Given the description of an element on the screen output the (x, y) to click on. 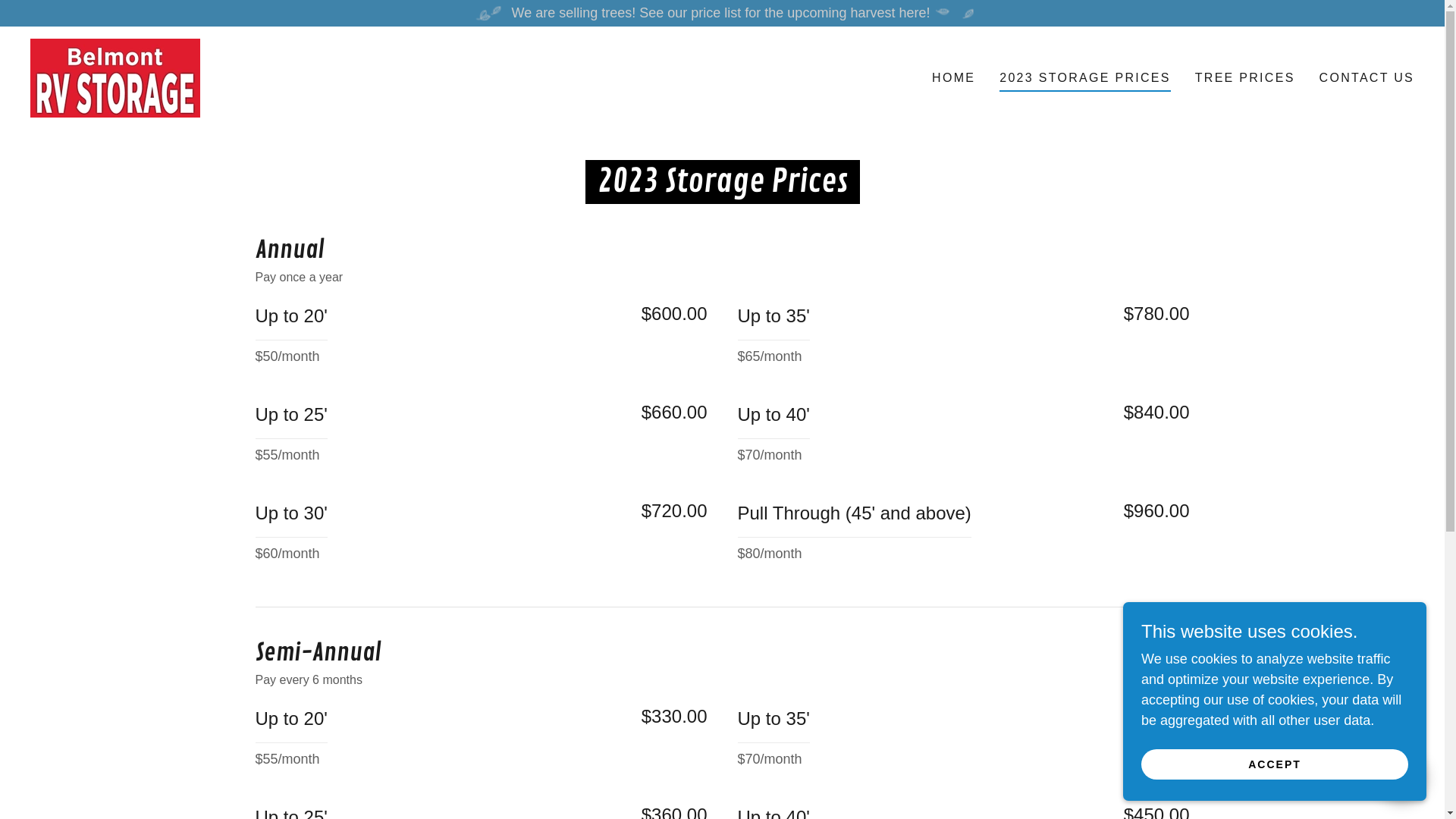
ACCEPT Element type: text (1274, 764)
2023 STORAGE PRICES Element type: text (1084, 80)
Belmont RV Storage Element type: hover (115, 76)
HOME Element type: text (953, 77)
TREE PRICES Element type: text (1244, 77)
CONTACT US Element type: text (1366, 77)
